Given the description of an element on the screen output the (x, y) to click on. 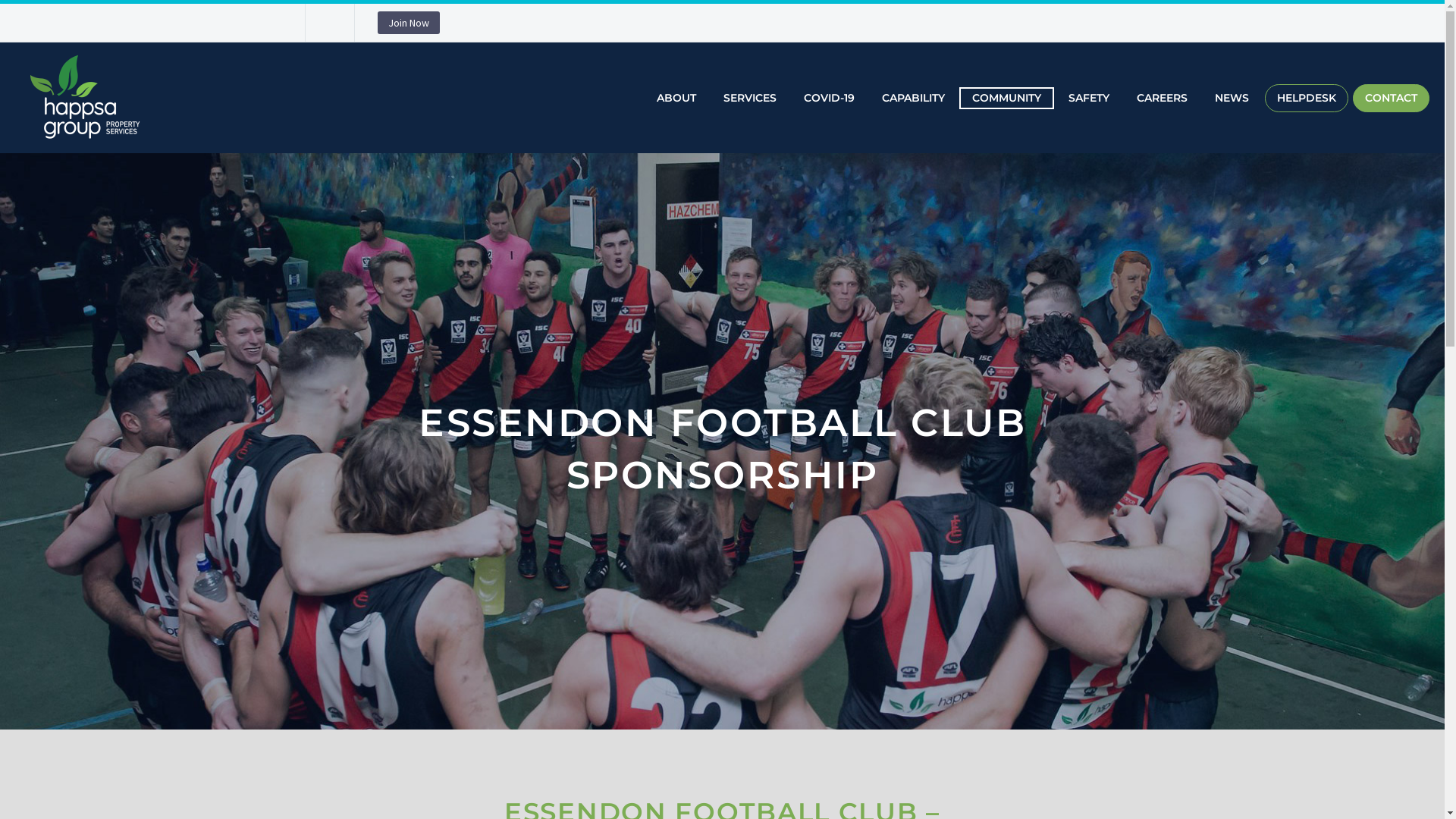
CAPABILITY Element type: text (913, 96)
HELPDESK Element type: text (1306, 97)
CONTACT Element type: text (1390, 97)
COVID-19 Element type: text (829, 96)
NEWS Element type: text (1231, 96)
SAFETY Element type: text (1088, 96)
SERVICES Element type: text (749, 96)
COMMUNITY Element type: text (1006, 97)
CAREERS Element type: text (1161, 96)
Join Now Element type: text (408, 22)
ABOUT Element type: text (676, 96)
